Given the description of an element on the screen output the (x, y) to click on. 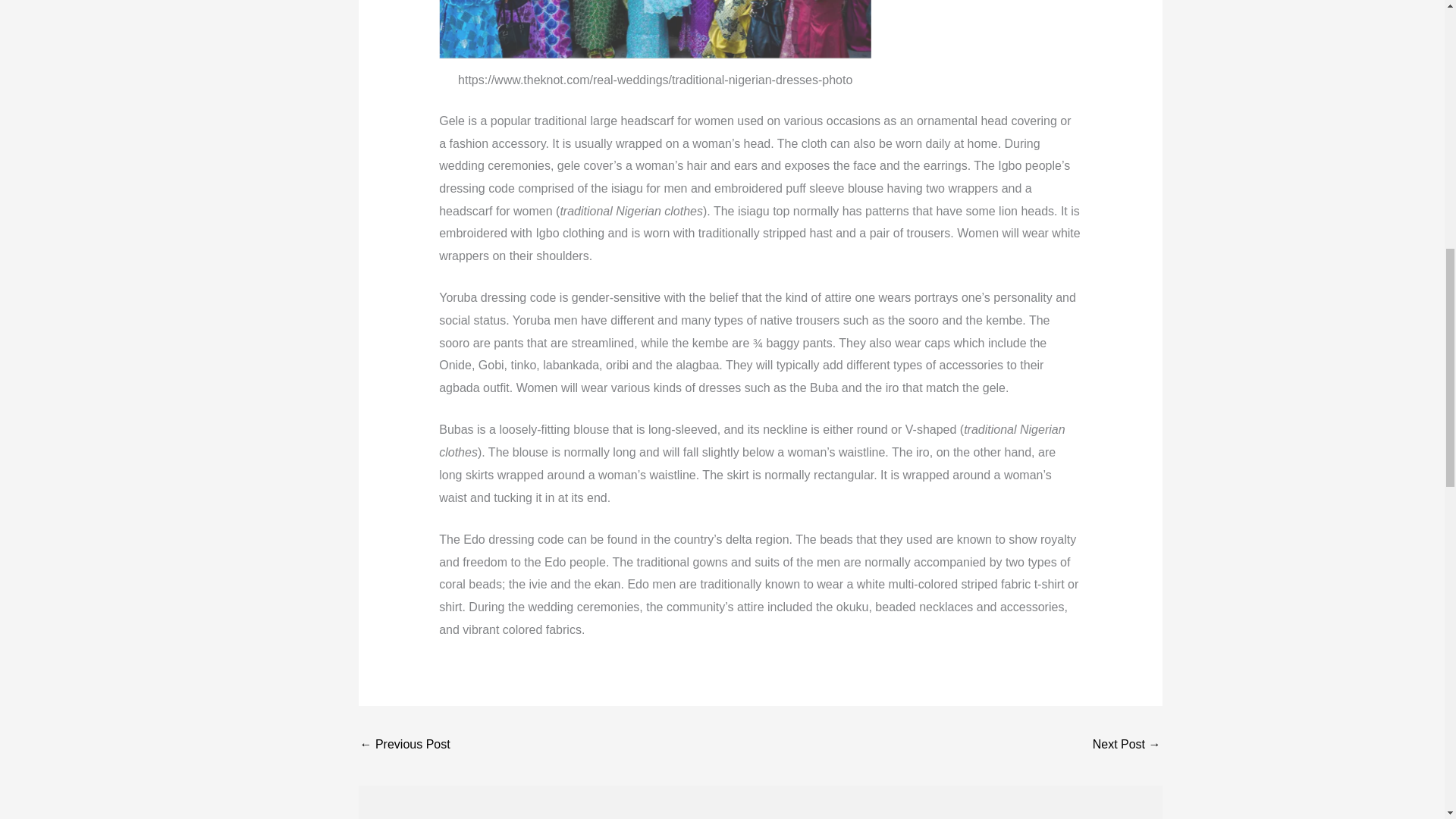
Artifacts in Nigeria (1126, 746)
Famous dish in Nigeria (404, 746)
